Given the description of an element on the screen output the (x, y) to click on. 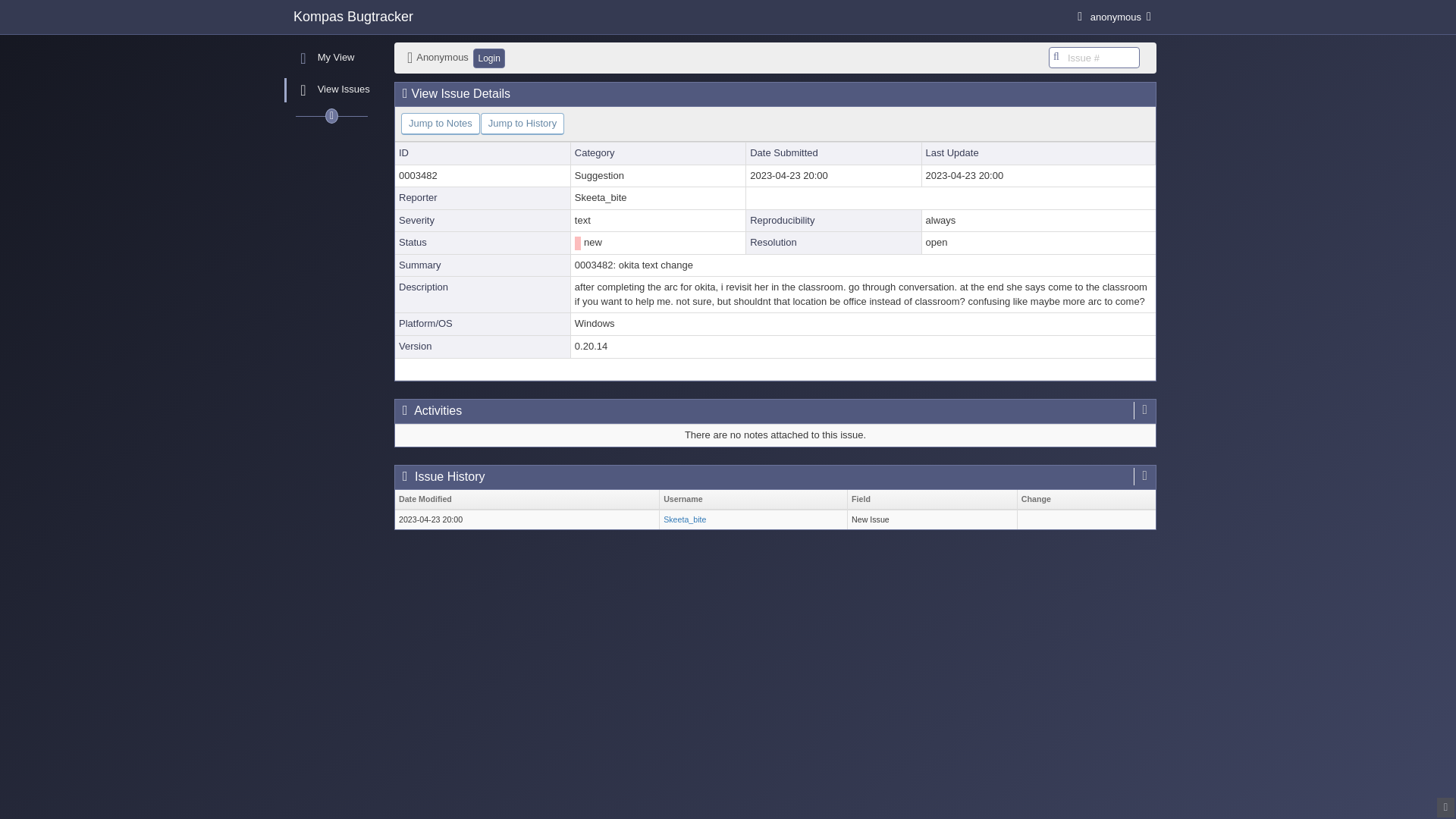
View Issues (330, 90)
Jump to History (522, 124)
My View (330, 58)
Login (488, 57)
anonymous (1113, 17)
Jump to Notes (440, 124)
Kompas Bugtracker (352, 15)
